Given the description of an element on the screen output the (x, y) to click on. 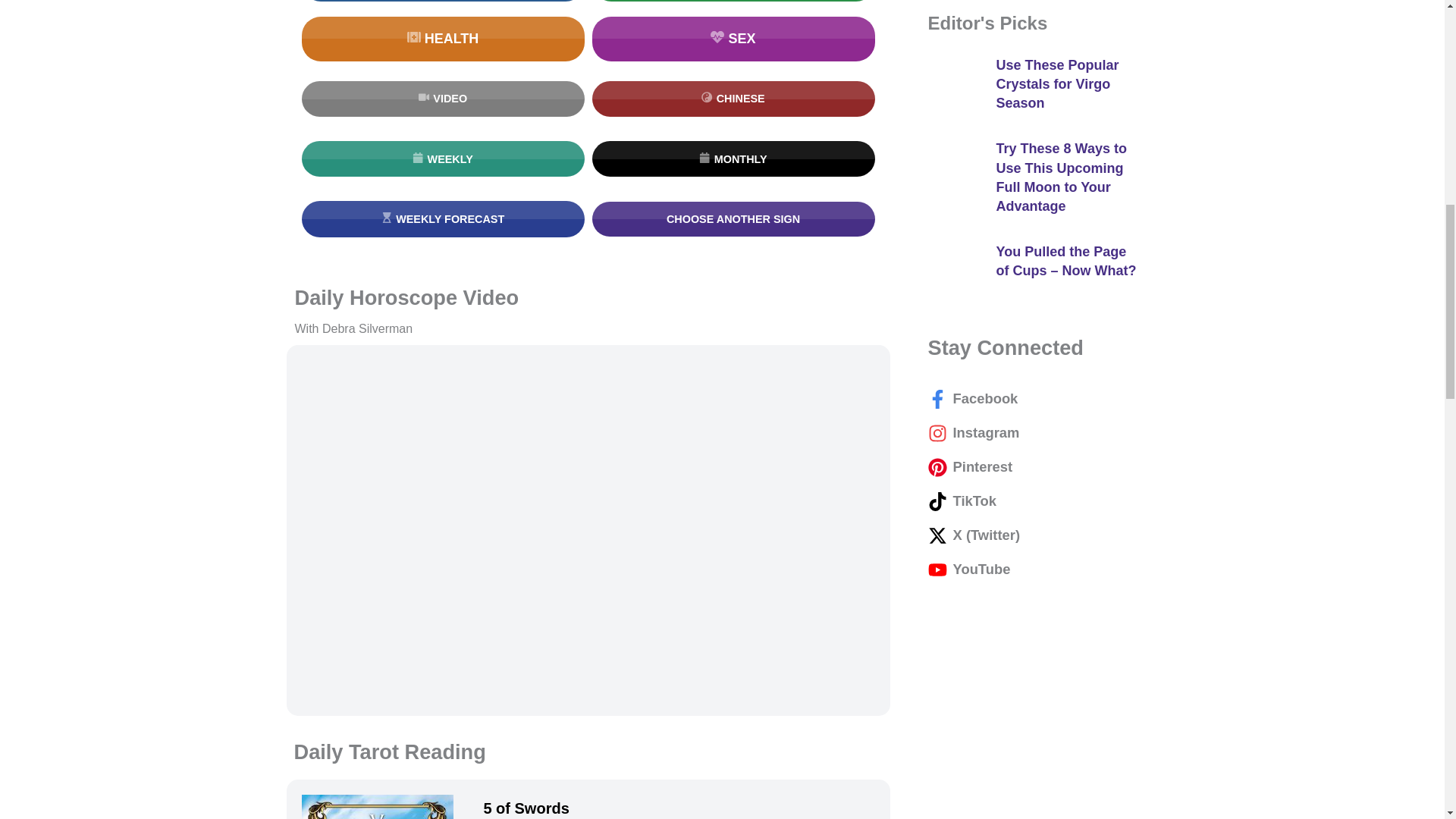
Facebook (984, 398)
Facebook (937, 398)
YouTube (937, 569)
YouTube (937, 501)
Instagram (937, 433)
Facebook (986, 534)
Facebook (937, 535)
YouTube (937, 466)
YouTube (981, 466)
